Given the description of an element on the screen output the (x, y) to click on. 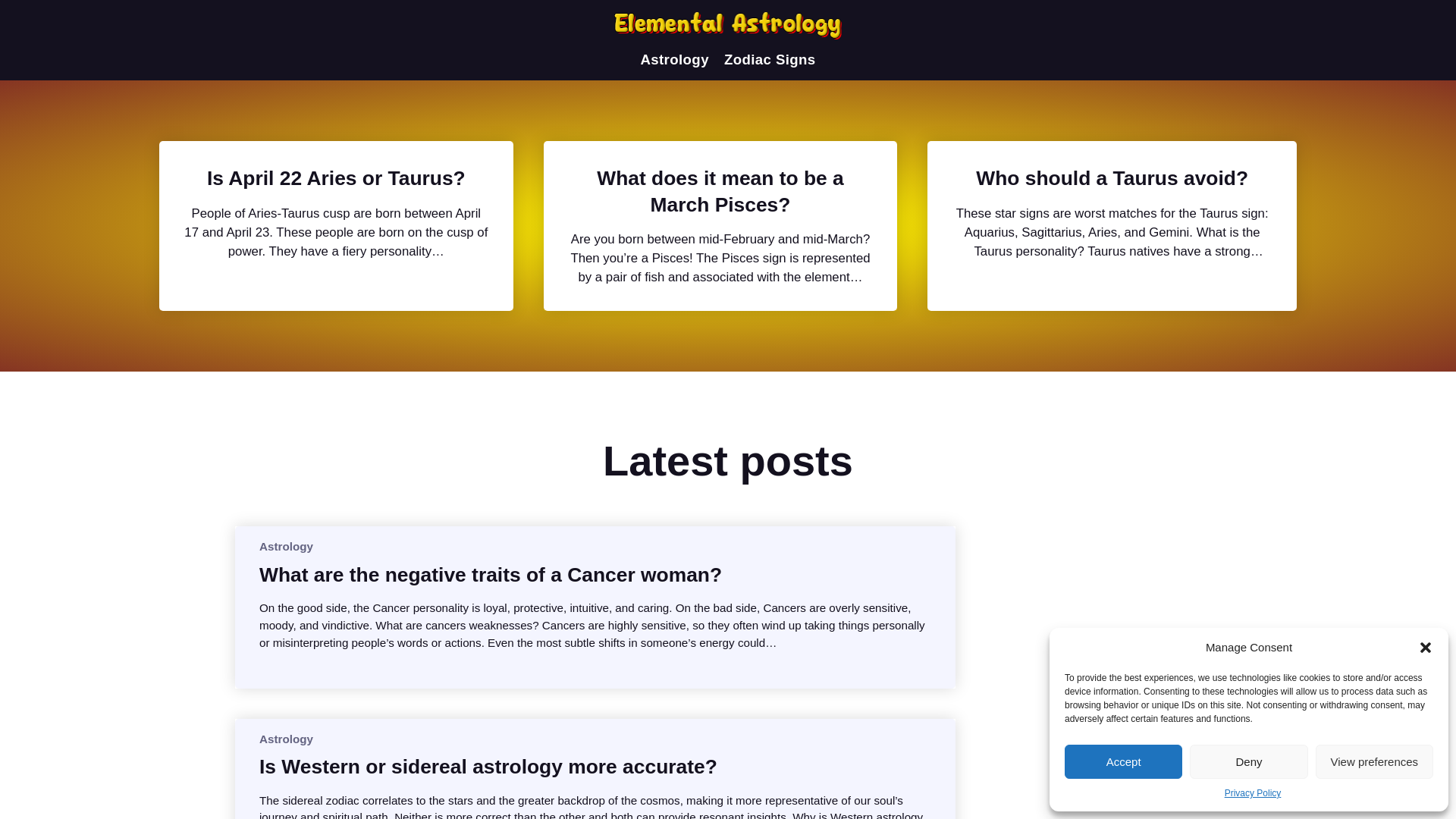
Astrology (286, 738)
Who should a Taurus avoid? (1111, 177)
Is Western or sidereal astrology more accurate? (488, 766)
Zodiac Signs (769, 59)
What are the negative traits of a Cancer woman? (490, 574)
Accept (1123, 761)
Deny (1248, 761)
Is April 22 Aries or Taurus? (335, 177)
Privacy Policy (1252, 793)
Astrology (674, 59)
